Given the description of an element on the screen output the (x, y) to click on. 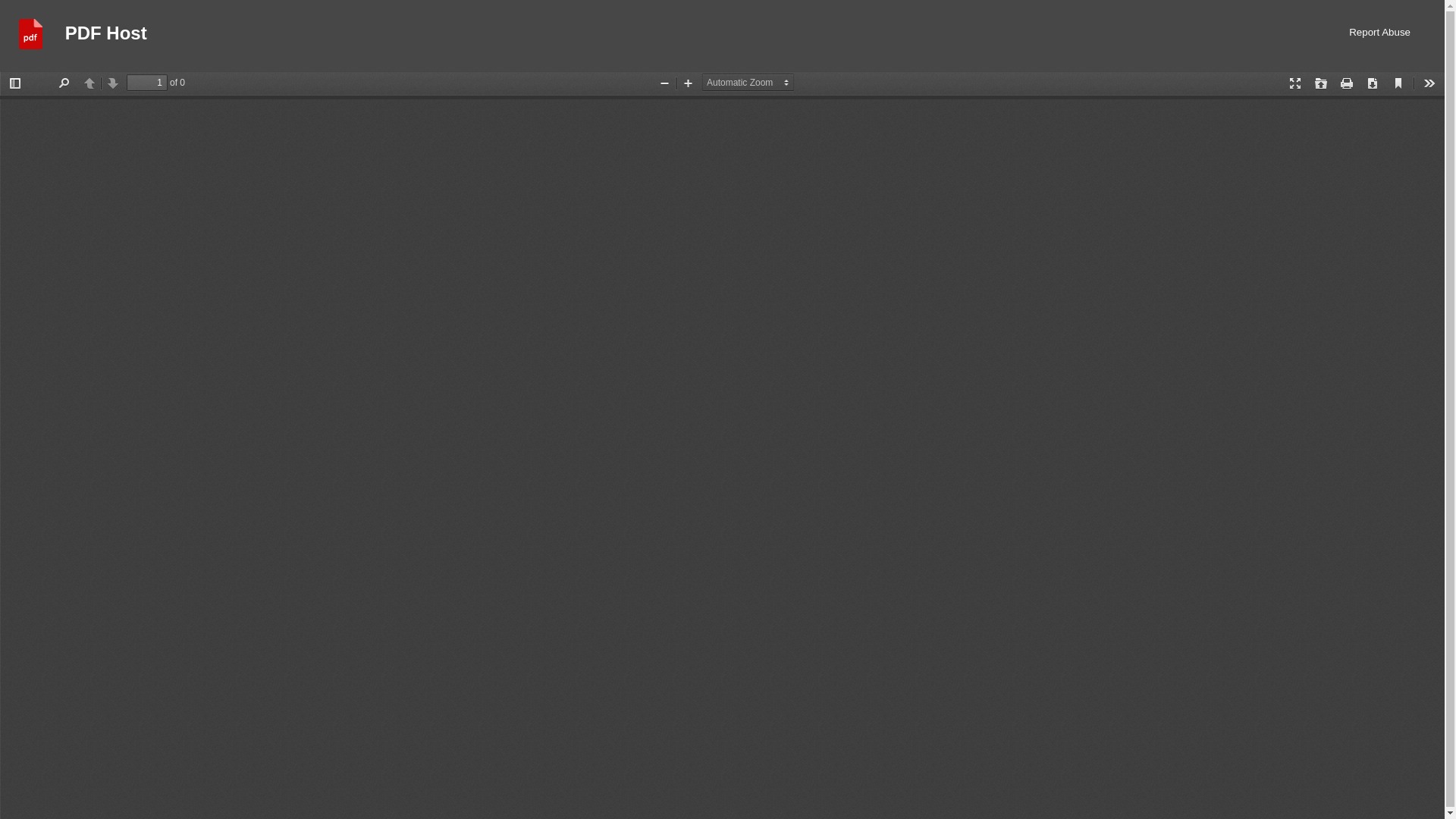
Report Abuse (1379, 35)
Find in Document (62, 82)
1 (146, 82)
PDF Host (106, 35)
Toggle Sidebar (14, 82)
